Given the description of an element on the screen output the (x, y) to click on. 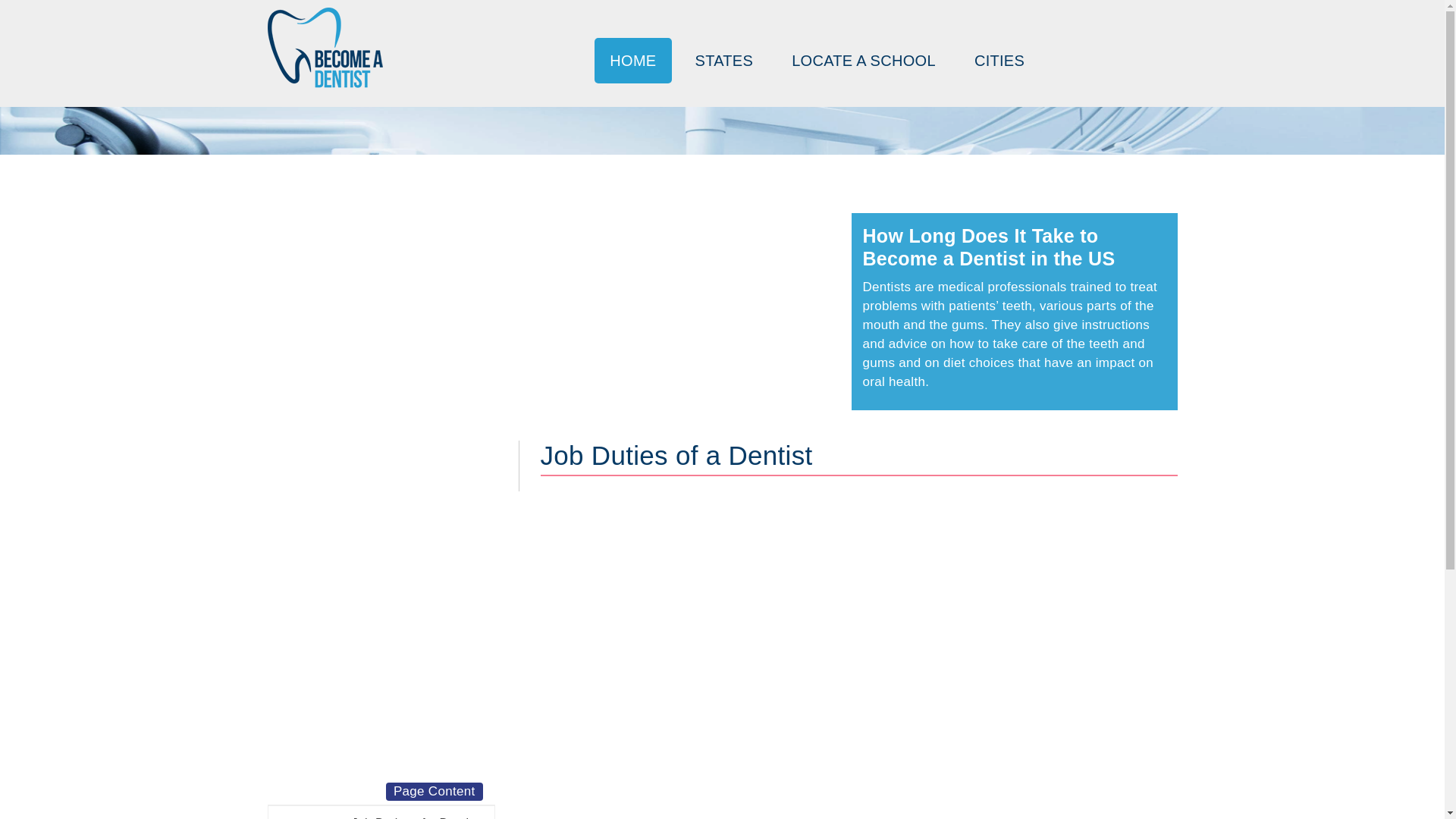
STATES (723, 60)
HOME (632, 60)
How Long Does It Take To Become A Dentist (323, 47)
Job Duties of a Dentist (381, 812)
CITIES (999, 60)
LOCATE A SCHOOL (863, 60)
